Given the description of an element on the screen output the (x, y) to click on. 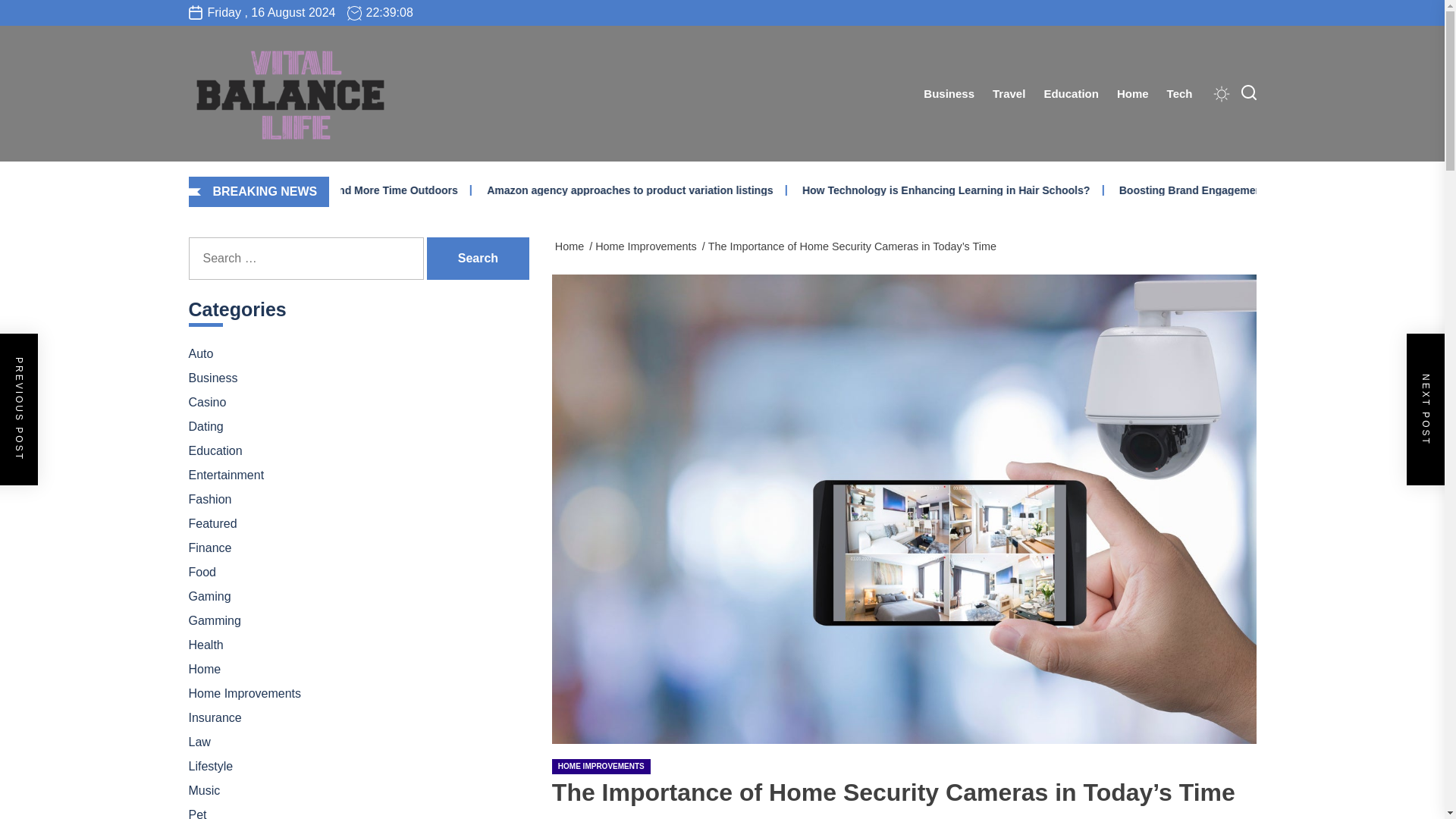
How Technology is Enhancing Learning in Hair Schools? (1088, 190)
HOME IMPROVEMENTS (600, 766)
Home (1132, 94)
Stephen M. Hollander (595, 816)
Education (1070, 94)
Search (477, 258)
Business (949, 94)
Home Improvements (648, 246)
Travel (1008, 94)
Search (477, 258)
